Given the description of an element on the screen output the (x, y) to click on. 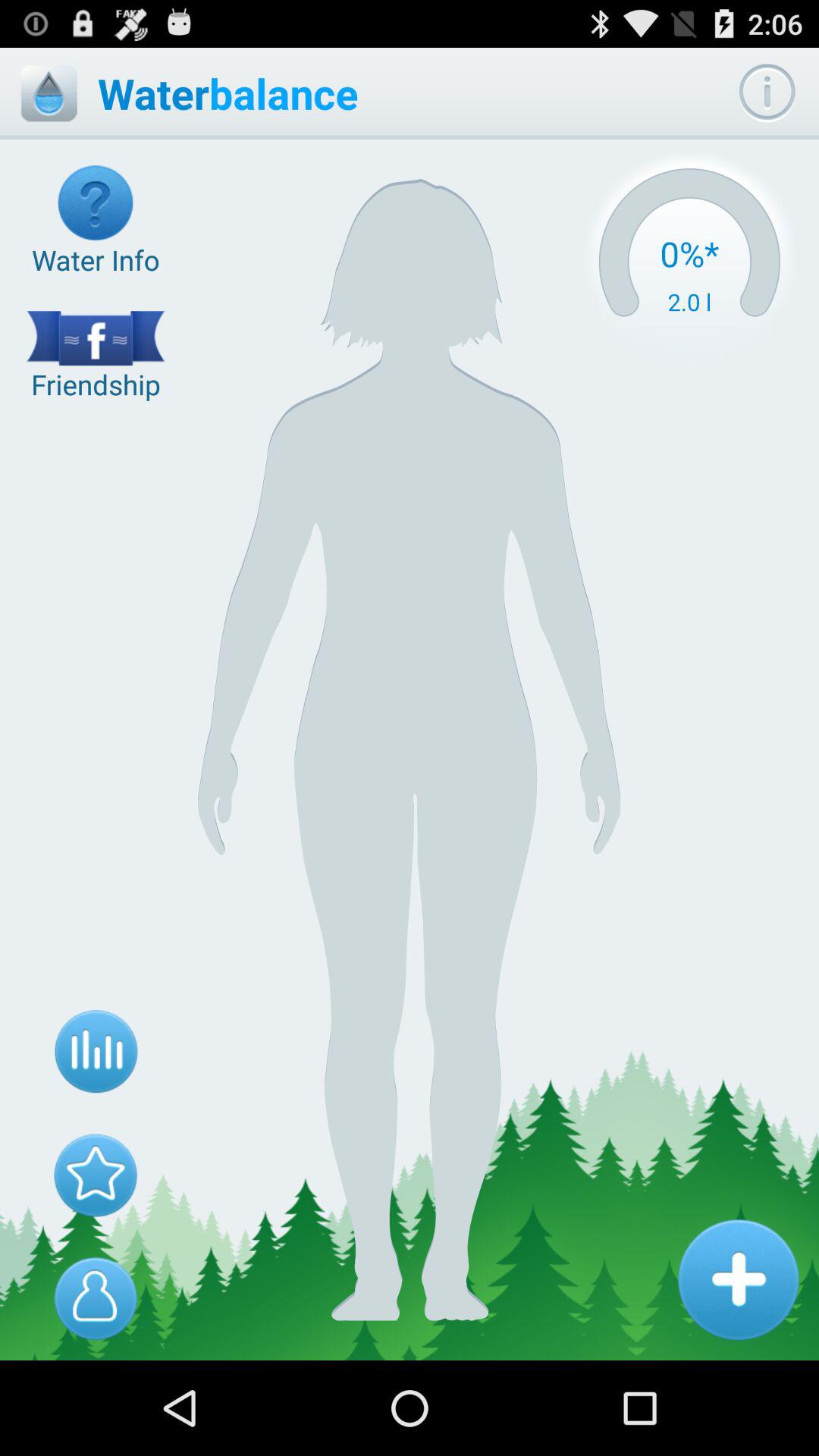
open favorites (95, 1175)
